Given the description of an element on the screen output the (x, y) to click on. 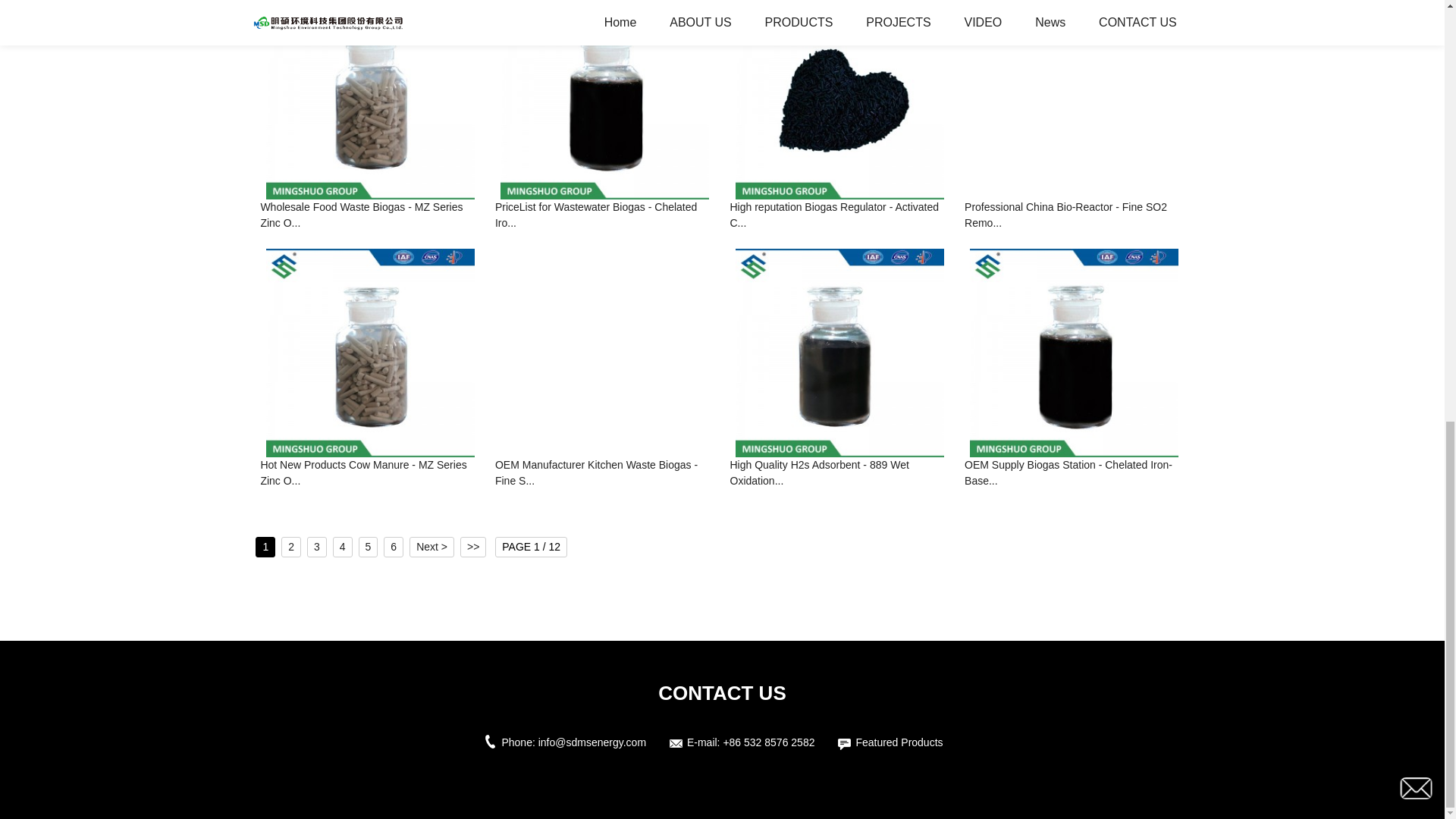
Professional China Bio-Reactor - Fine SO2 Remo... (1074, 216)
Wholesale Food Waste Biogas - MZ Series Zinc O... (370, 216)
Hot New Products Cow Manure - MZ Series Zinc O... (370, 474)
PriceList for Wastewater Biogas - Chelated Iro... (604, 216)
High reputation Biogas Regulator - Activated C... (839, 216)
The Last Page (473, 547)
